Given the description of an element on the screen output the (x, y) to click on. 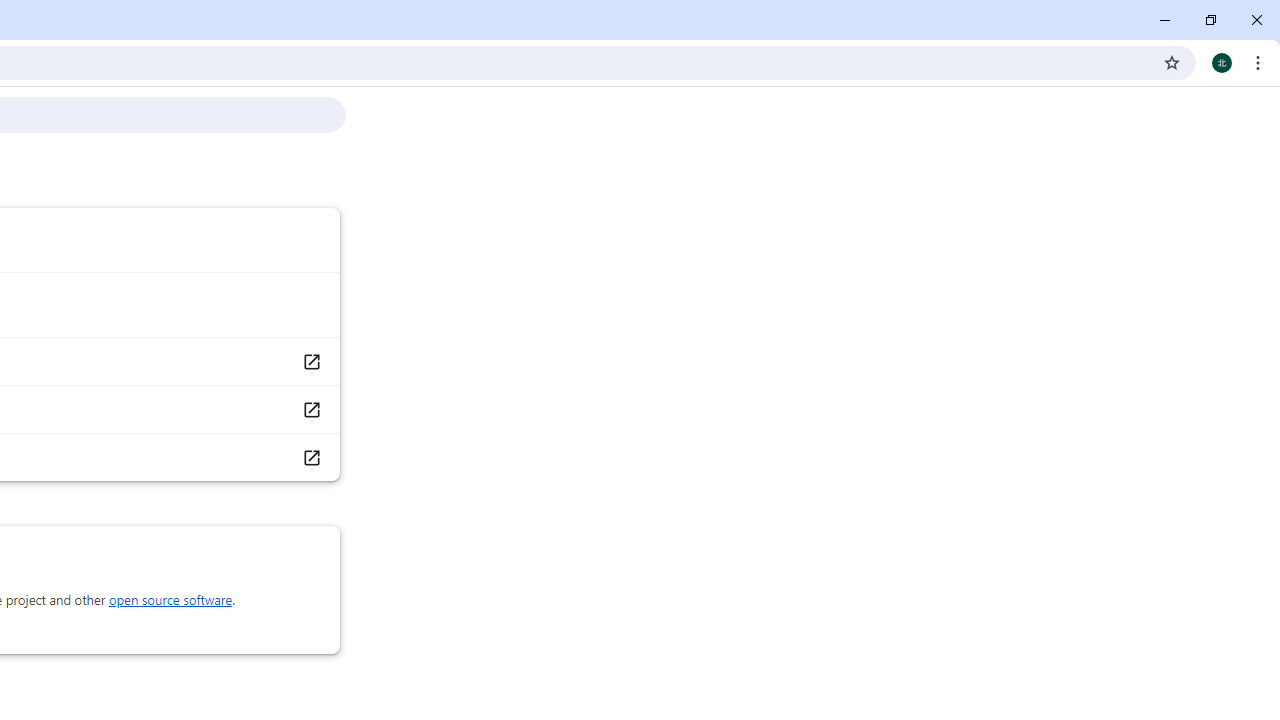
Report an issue (310, 409)
open source software (169, 600)
Get help with Chrome (310, 361)
Privacy policy (310, 456)
